Given the description of an element on the screen output the (x, y) to click on. 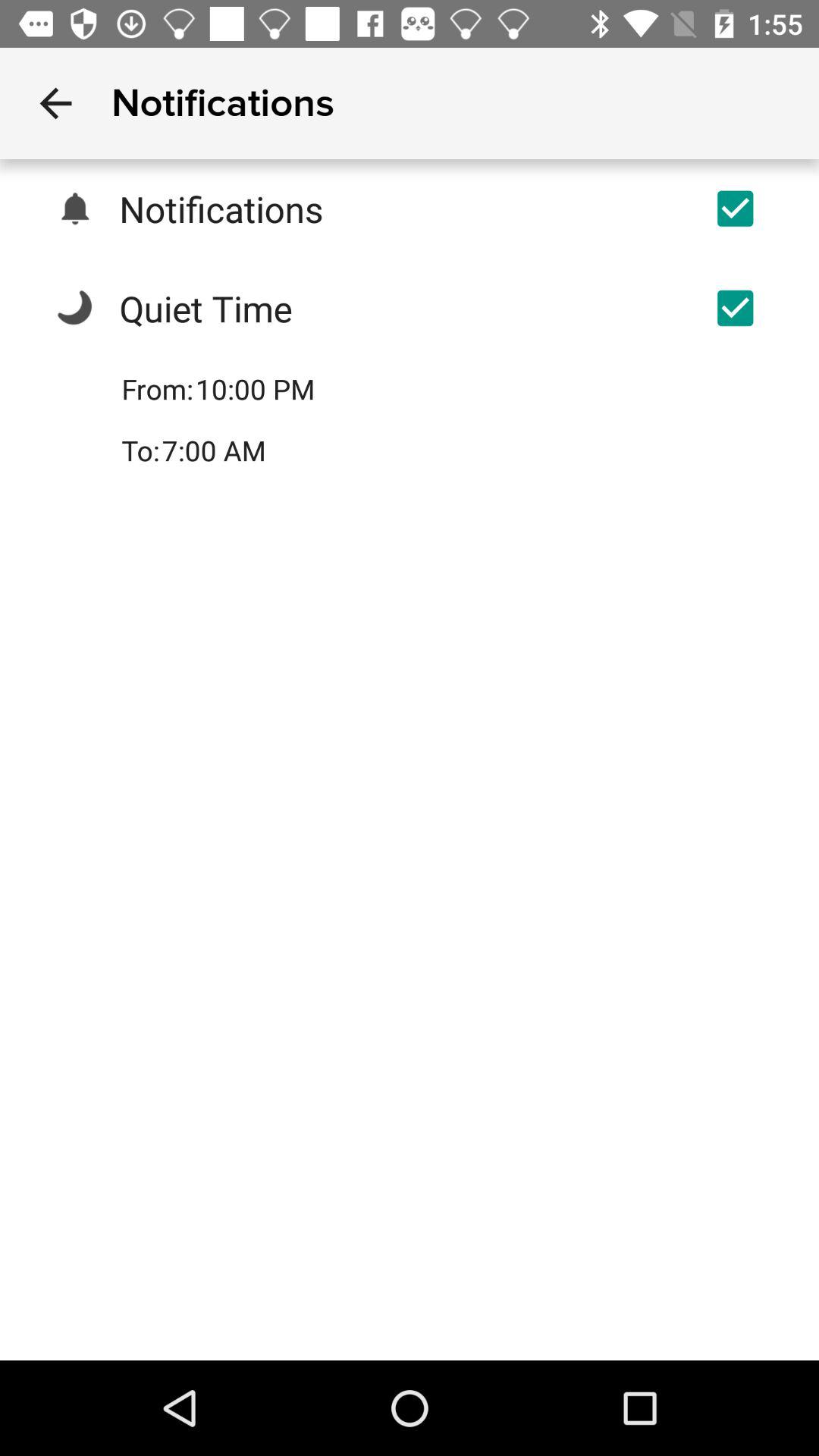
turn off icon to the left of notifications (55, 103)
